Given the description of an element on the screen output the (x, y) to click on. 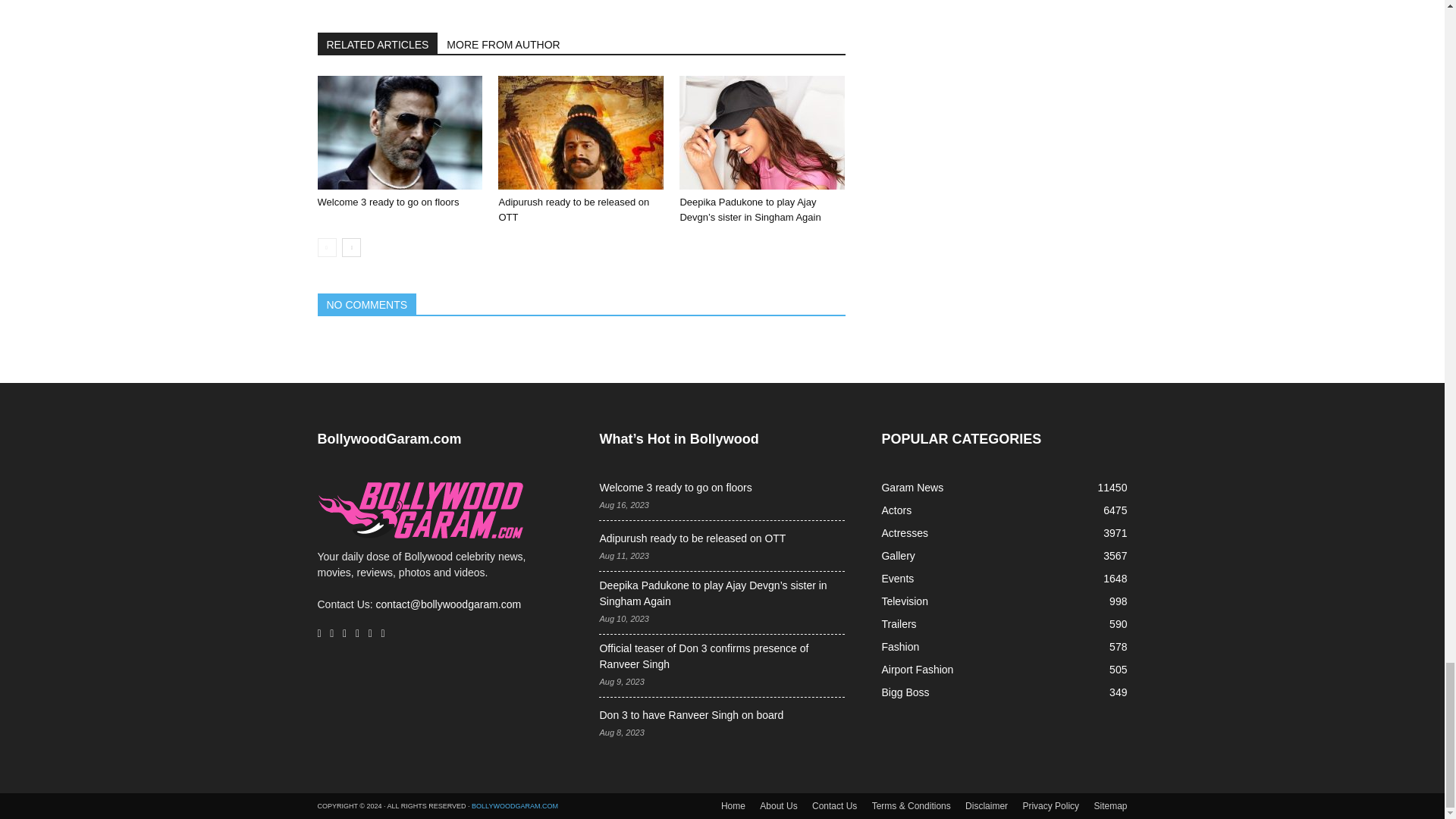
Adipurush ready to be released on OTT (580, 132)
Welcome 3 ready to go on floors (387, 202)
Adipurush ready to be released on OTT (573, 209)
Welcome 3 ready to go on floors (399, 132)
